Given the description of an element on the screen output the (x, y) to click on. 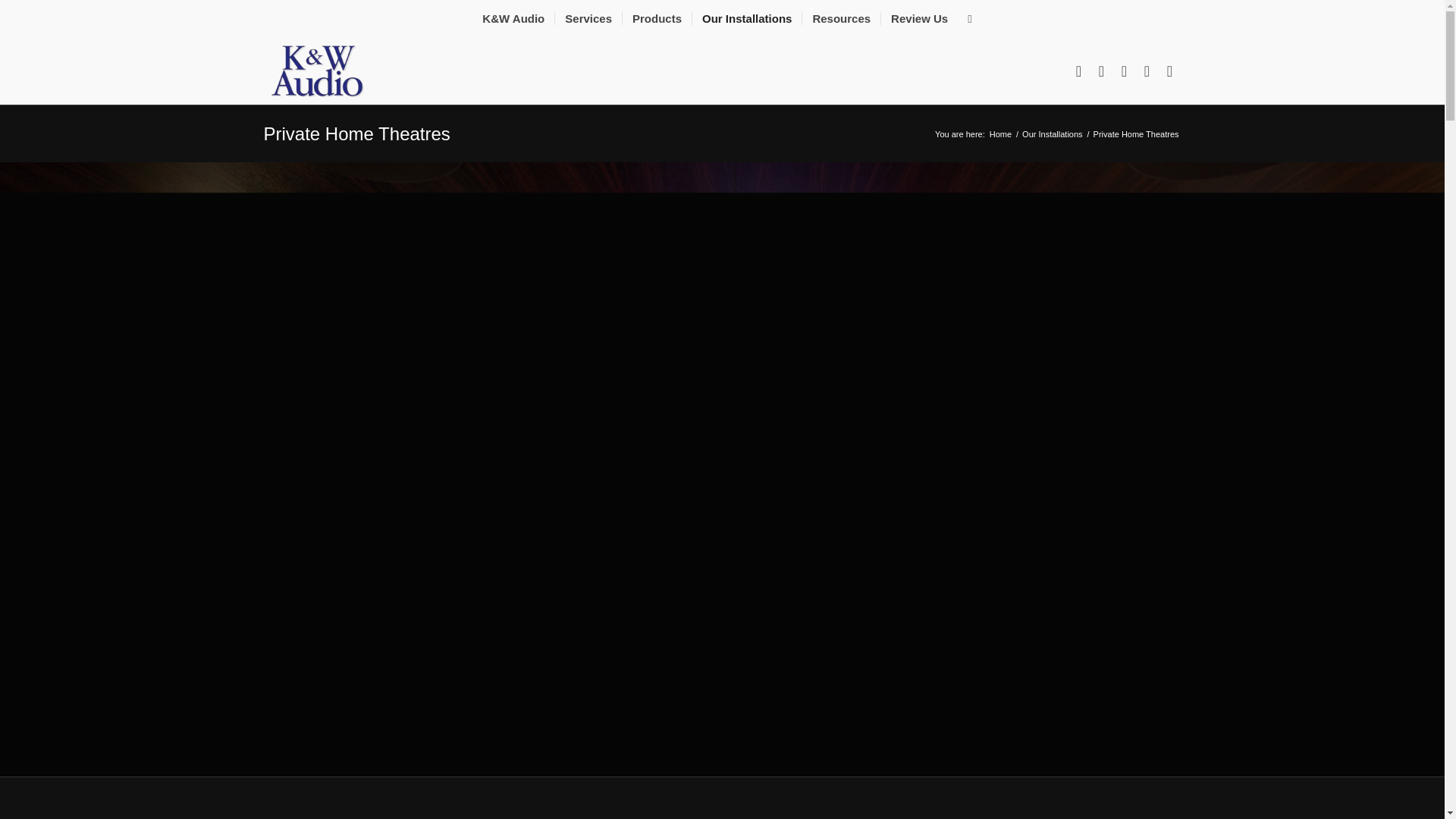
X (1101, 70)
Permanent Link: Private Home Theatres (356, 133)
Products (656, 18)
Our Installations (1052, 134)
Youtube (1124, 70)
Facebook (1078, 70)
Instagram (1146, 70)
Services (587, 18)
LinkedIn (1169, 70)
Our Installations (746, 18)
